Given the description of an element on the screen output the (x, y) to click on. 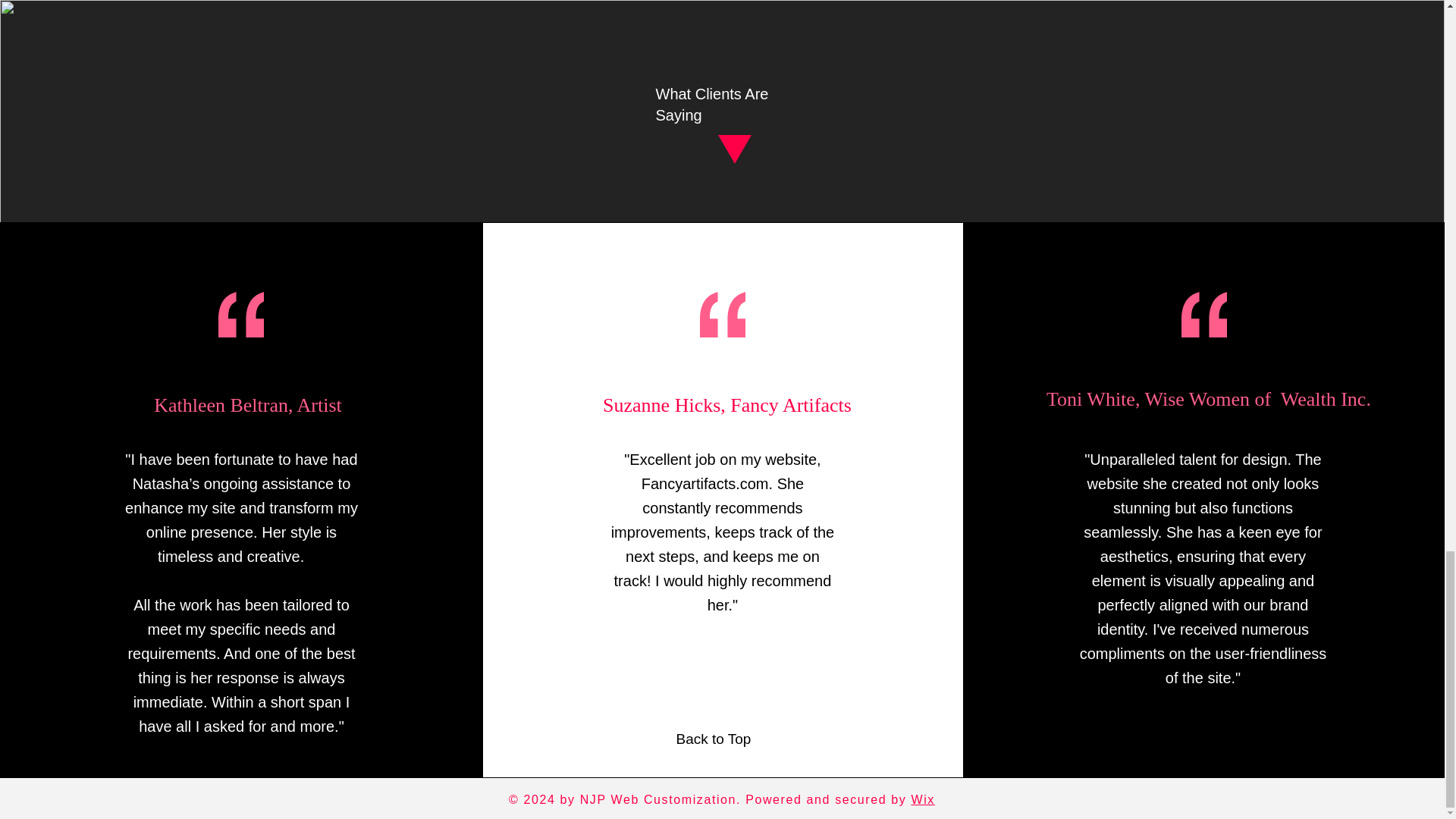
What Clients Are Saying (711, 104)
Wix (922, 799)
Back to Top (713, 739)
